Given the description of an element on the screen output the (x, y) to click on. 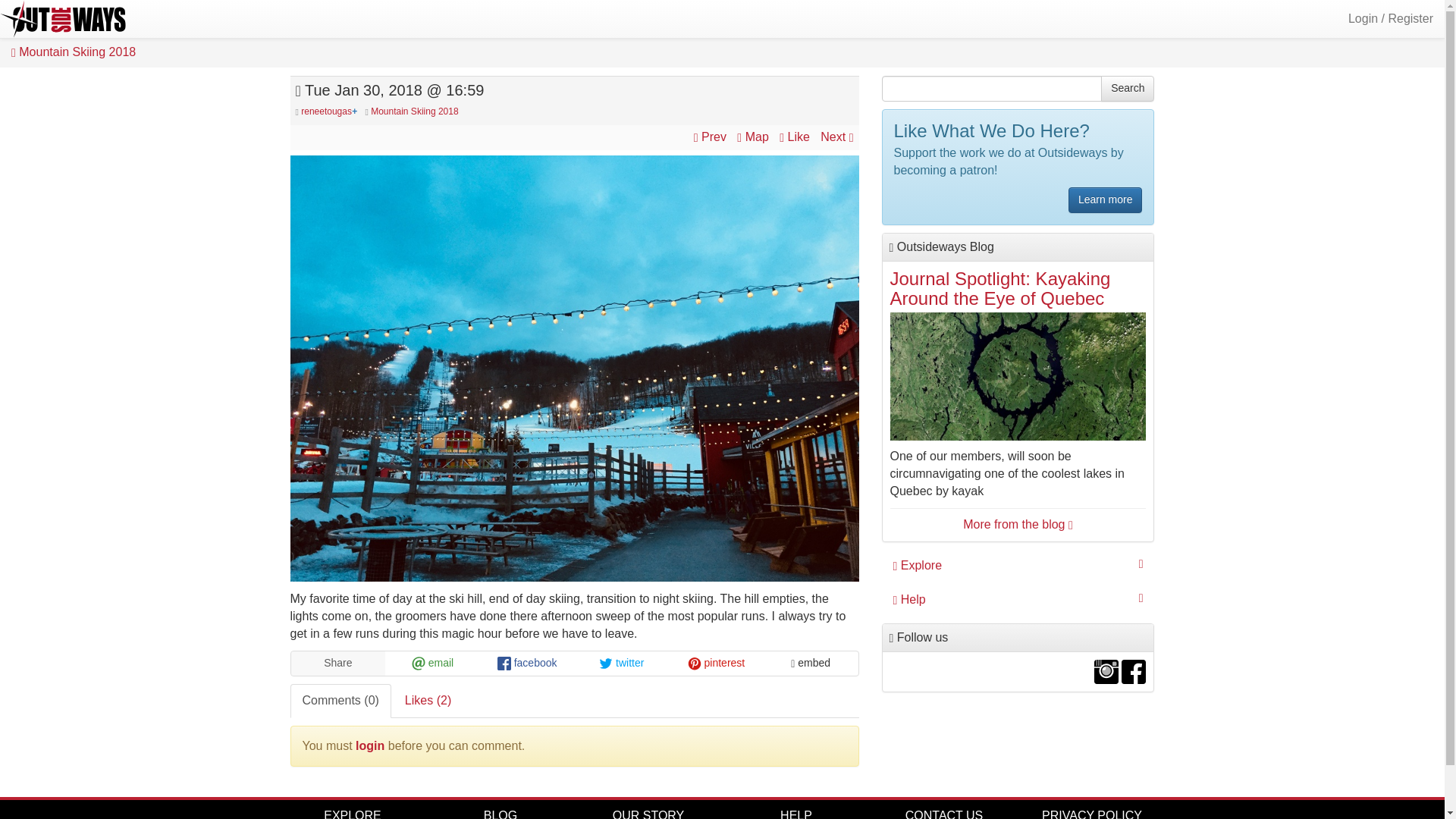
Next (837, 136)
Prev (712, 136)
Learn more (1105, 199)
reneetougas (326, 111)
facebook (527, 663)
email (432, 663)
More from the blog (1017, 523)
login (369, 745)
Share (338, 663)
Map (753, 136)
Journal Spotlight: Kayaking Around the Eye of Quebec (999, 288)
embed (810, 663)
Like (795, 136)
Search (1127, 88)
Mountain Skiing 2018 (414, 111)
